Given the description of an element on the screen output the (x, y) to click on. 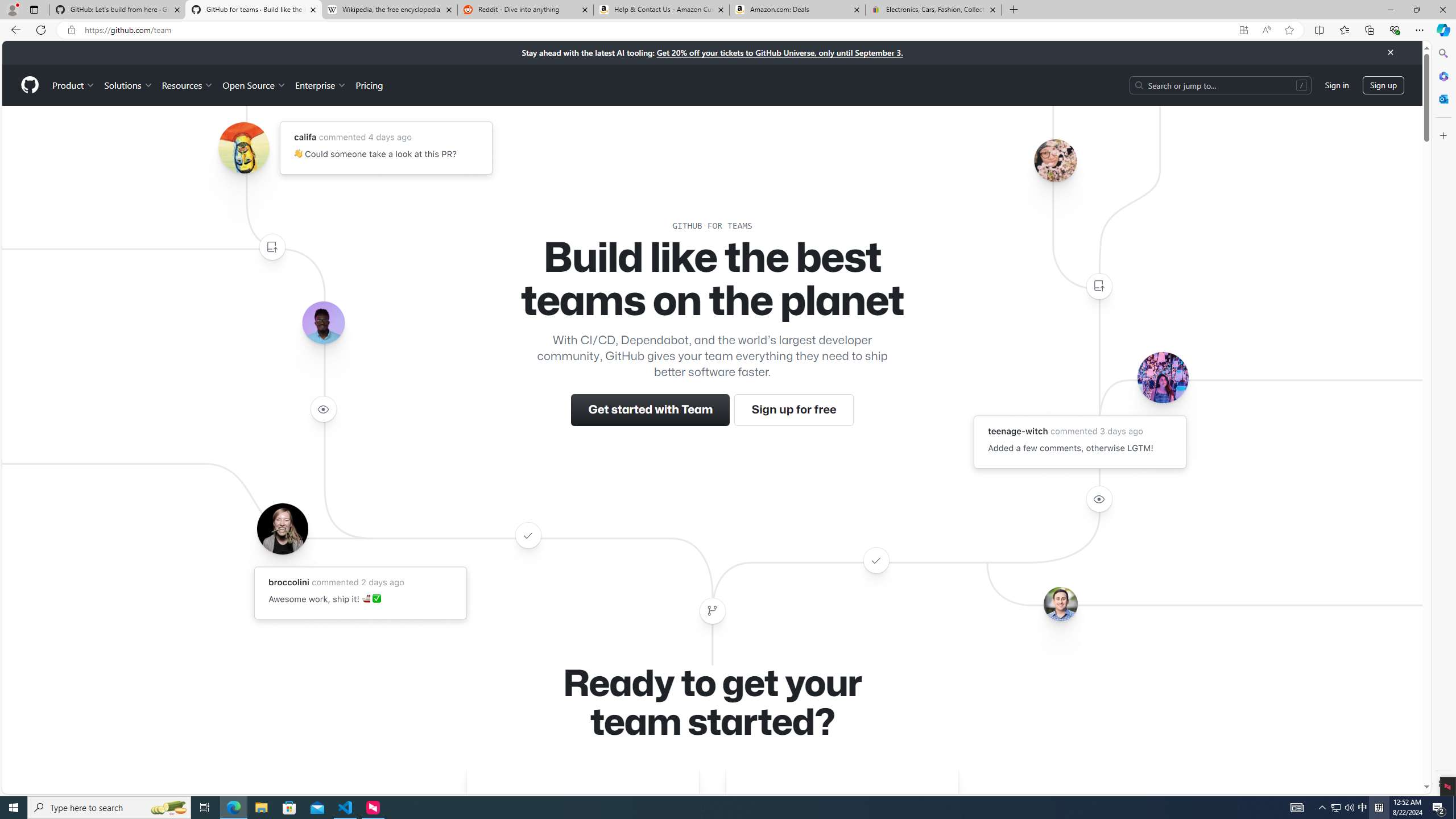
Sign up for free (793, 409)
App available. Install GitHub (1243, 29)
Avatar of the user ohjoycelau (1054, 159)
Enterprise (319, 84)
Wikipedia, the free encyclopedia (390, 9)
